Given the description of an element on the screen output the (x, y) to click on. 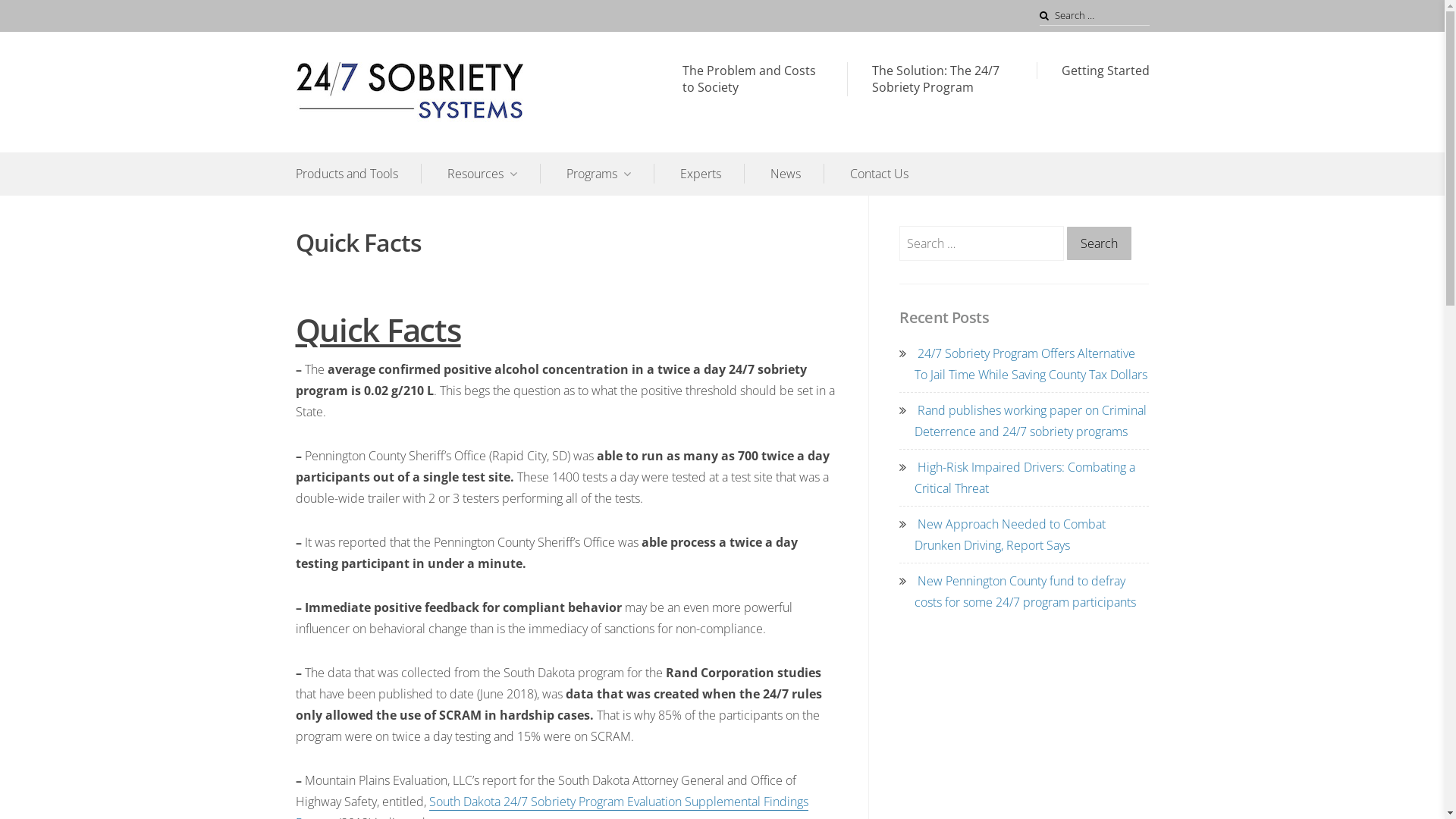
Experts Element type: text (711, 173)
Programs Element type: text (609, 173)
Resources Element type: text (493, 173)
The Problem and Costs to Society Element type: text (752, 79)
Search Element type: text (32, 16)
Products and Tools Element type: text (358, 173)
Contact Us Element type: text (878, 173)
News Element type: text (797, 173)
New Approach Needed to Combat Drunken Driving, Report Says Element type: text (1009, 534)
High-Risk Impaired Drivers: Combating a Critical Threat Element type: text (1024, 477)
Search Element type: text (1098, 243)
24/7 Sobriety Systems Element type: text (393, 133)
Getting Started Element type: text (1105, 70)
The Solution: The 24/7 Sobriety Program Element type: text (942, 79)
